Given the description of an element on the screen output the (x, y) to click on. 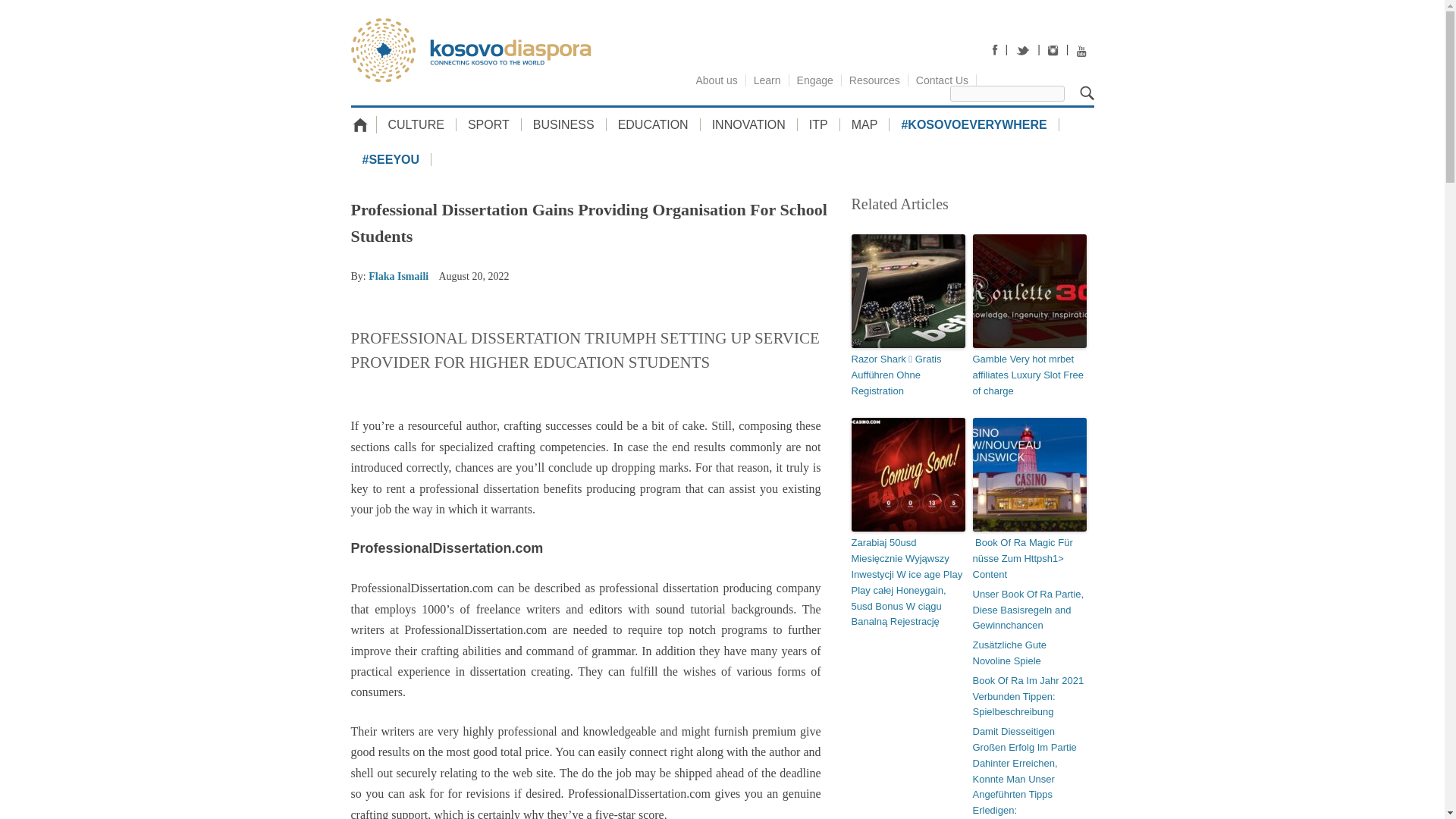
Search (1087, 92)
INNOVATION (748, 124)
MAP (864, 124)
Book Of Ra Im Jahr 2021 Verbunden Tippen: Spielbeschreibung (1029, 696)
CULTURE (415, 124)
Resources (874, 80)
ITP (818, 124)
SPORT (489, 124)
Contact Us (942, 80)
Engage (815, 80)
